Given the description of an element on the screen output the (x, y) to click on. 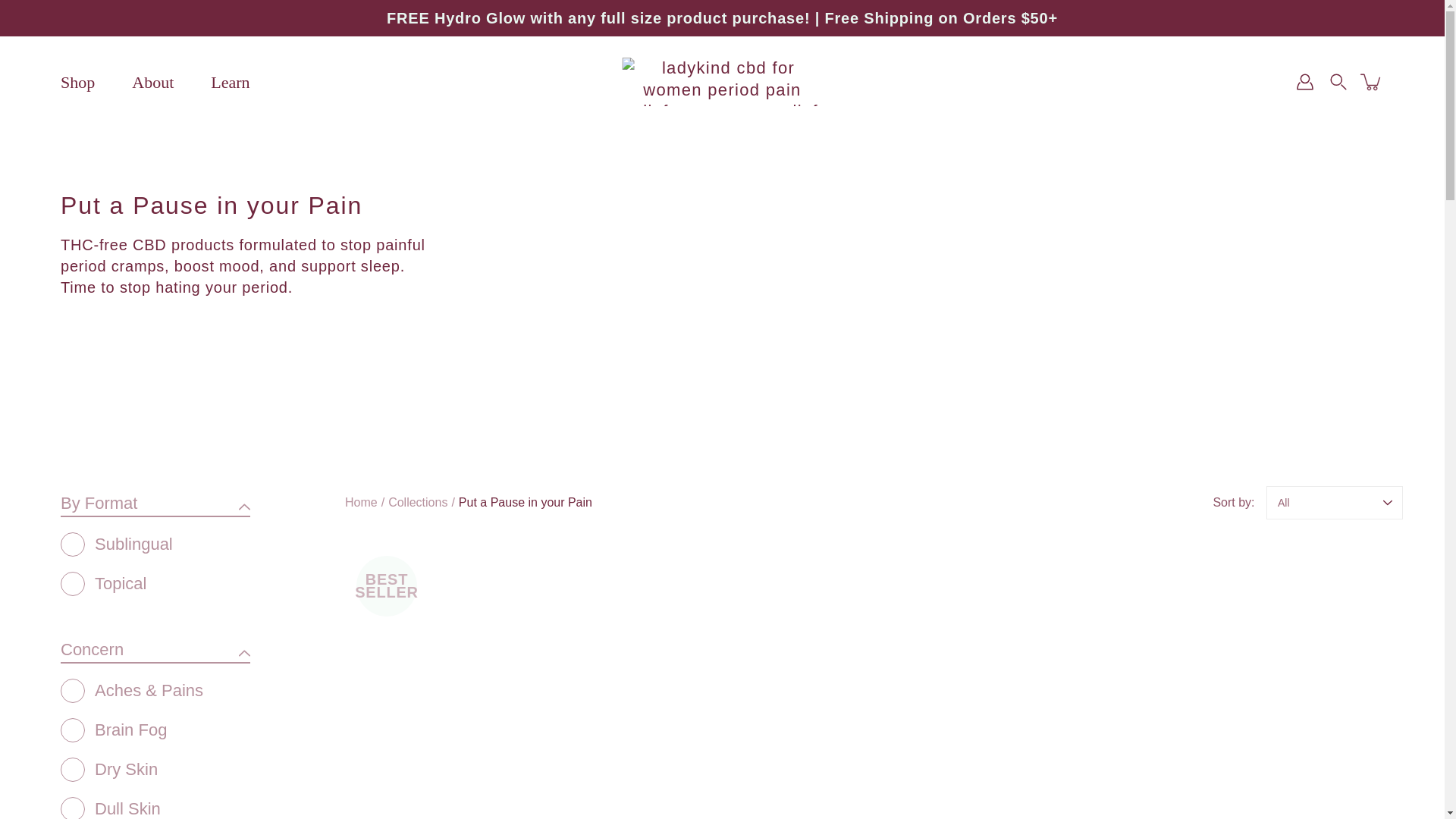
Back to the Homepage (361, 502)
Shop (77, 81)
About (152, 81)
Learn (229, 81)
